Given the description of an element on the screen output the (x, y) to click on. 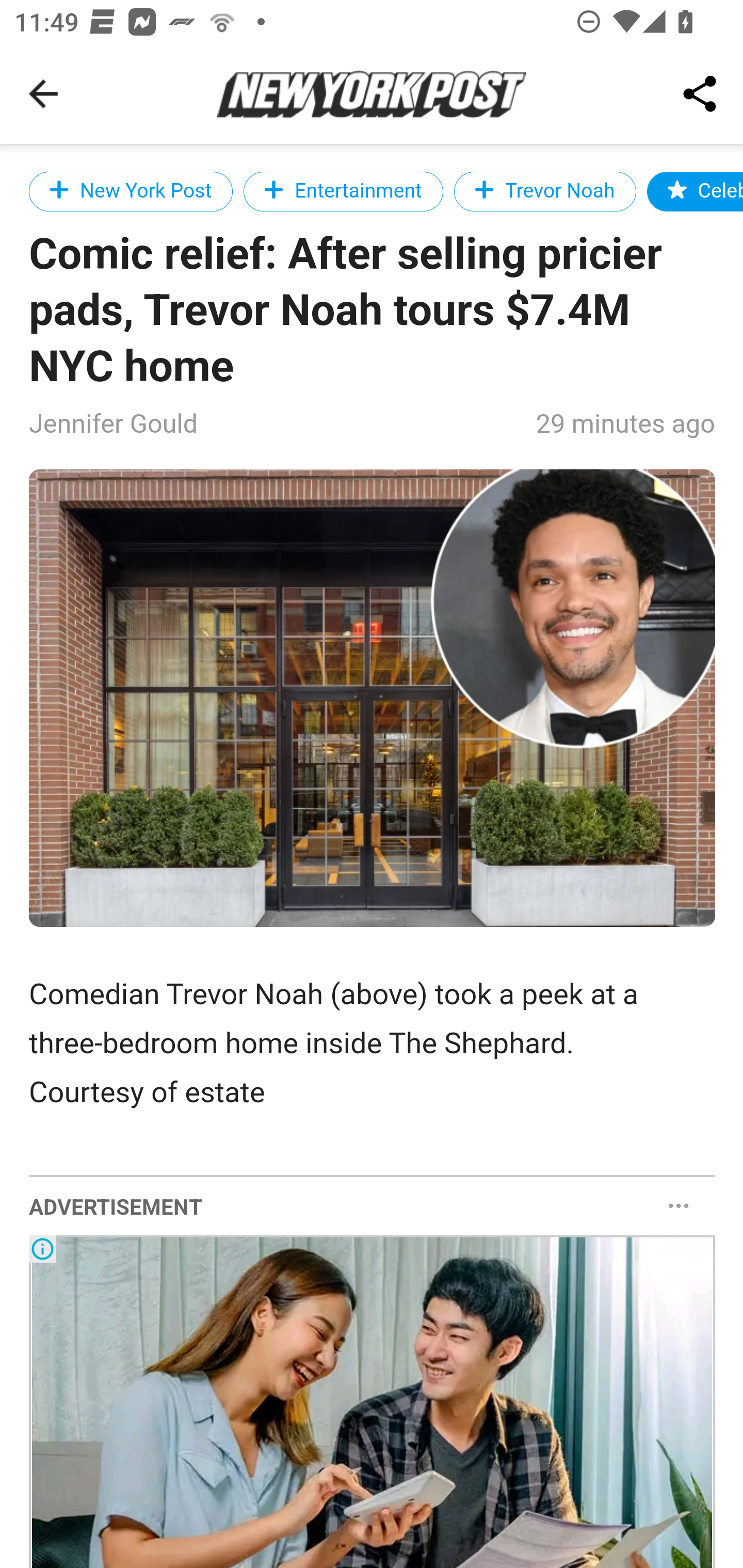
New York Post (131, 191)
Entertainment (343, 191)
Trevor Noah (545, 191)
